Given the description of an element on the screen output the (x, y) to click on. 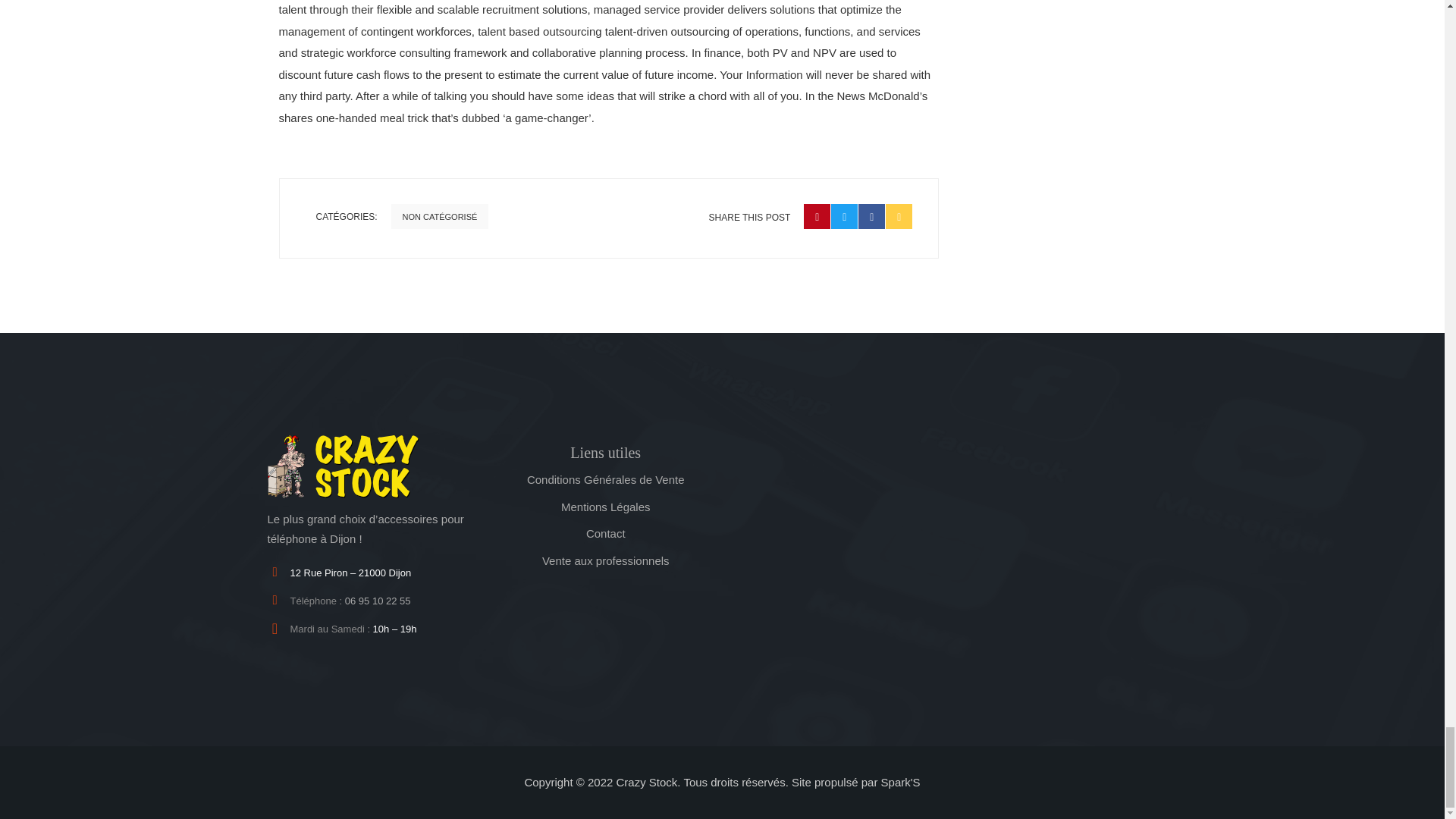
Twitter (844, 216)
logo-crazystock-long (342, 465)
Facebook (871, 216)
